Given the description of an element on the screen output the (x, y) to click on. 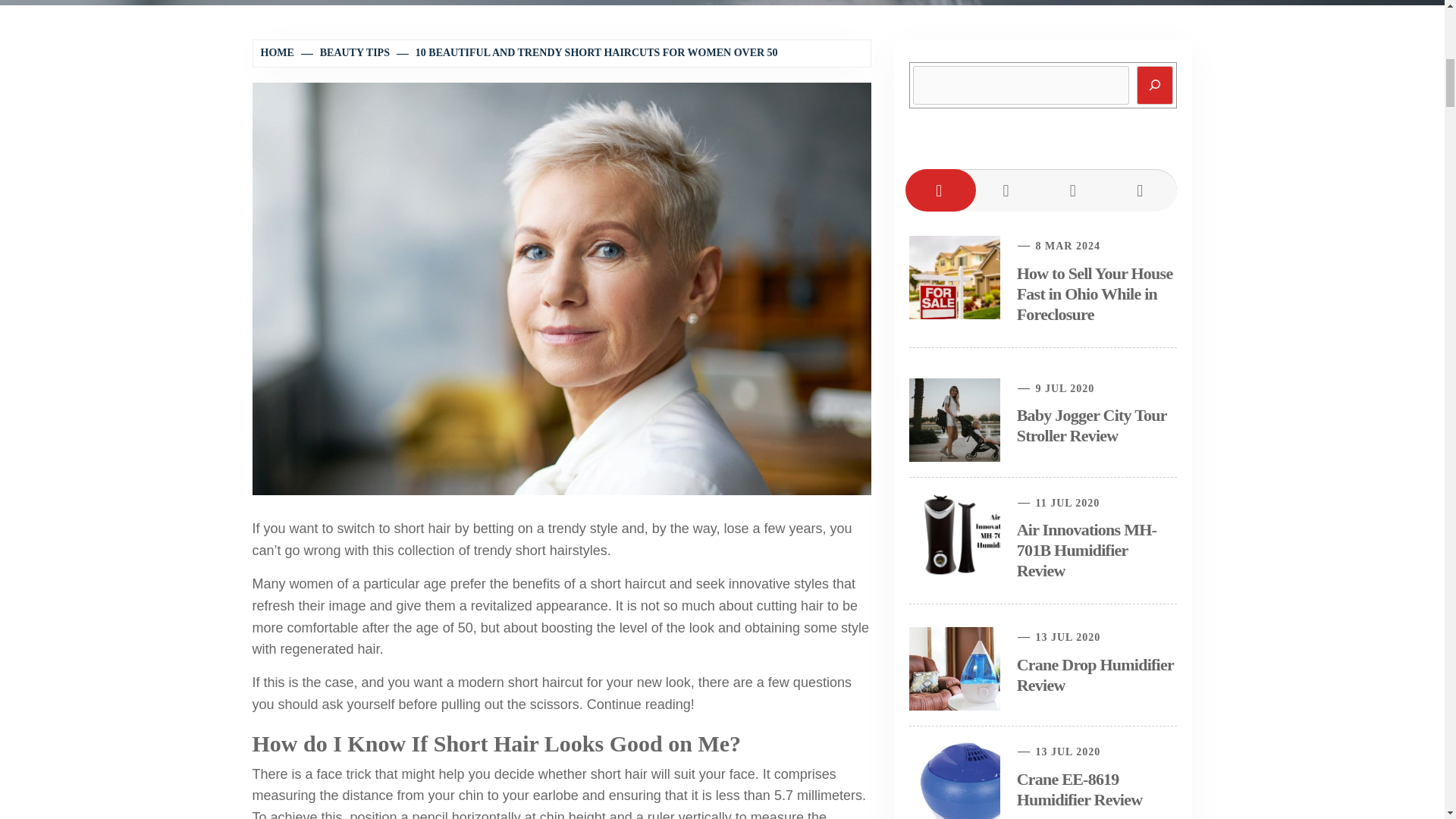
BEAUTY TIPS (346, 52)
10 BEAUTIFUL AND TRENDY SHORT HAIRCUTS FOR WOMEN OVER 50 (588, 52)
HOME (279, 52)
